Given the description of an element on the screen output the (x, y) to click on. 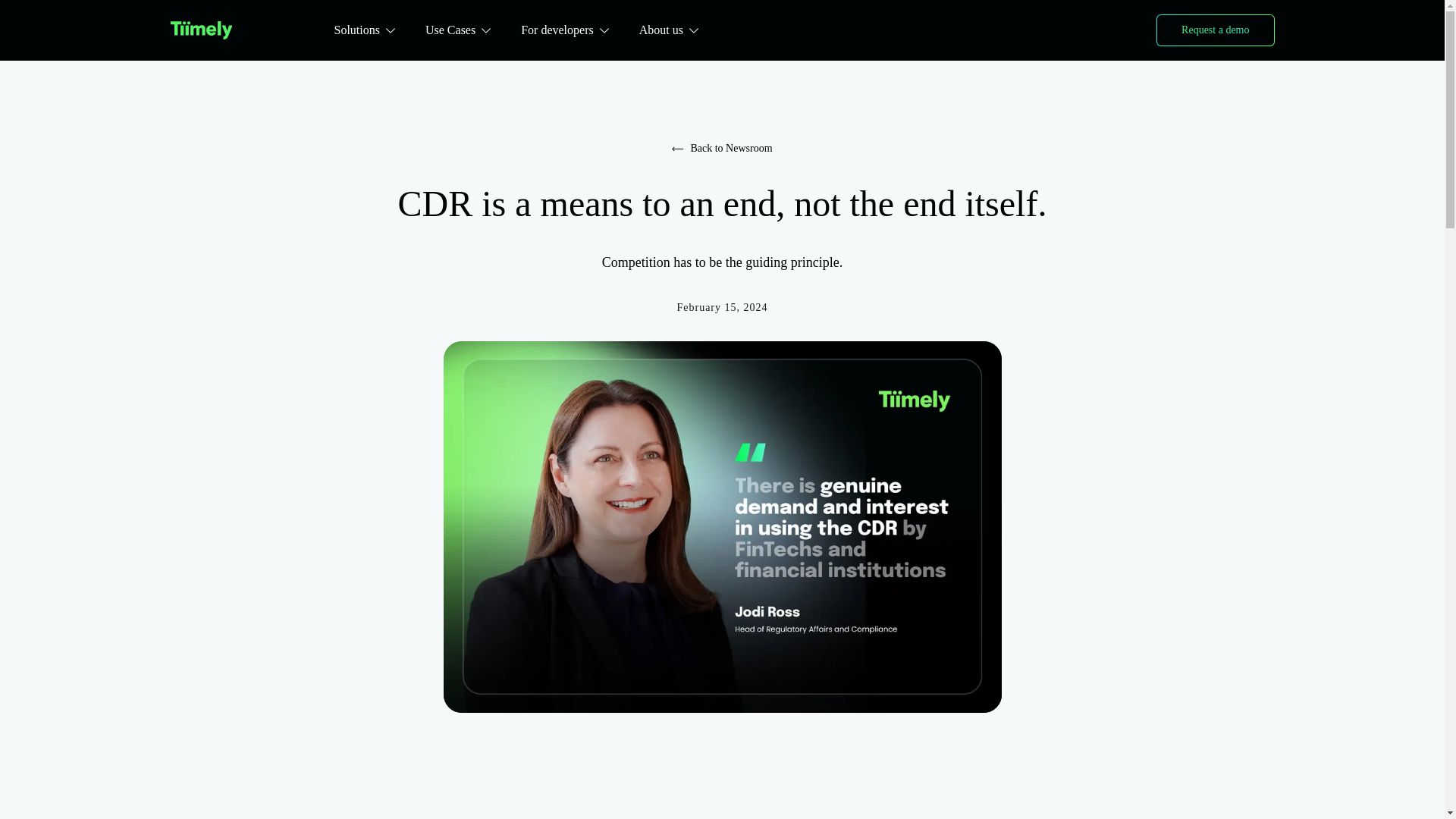
Back to Newsroom (721, 148)
For developers (564, 30)
Solutions (363, 30)
About us (668, 30)
Request a demo (1215, 29)
Use Cases (457, 30)
